Given the description of an element on the screen output the (x, y) to click on. 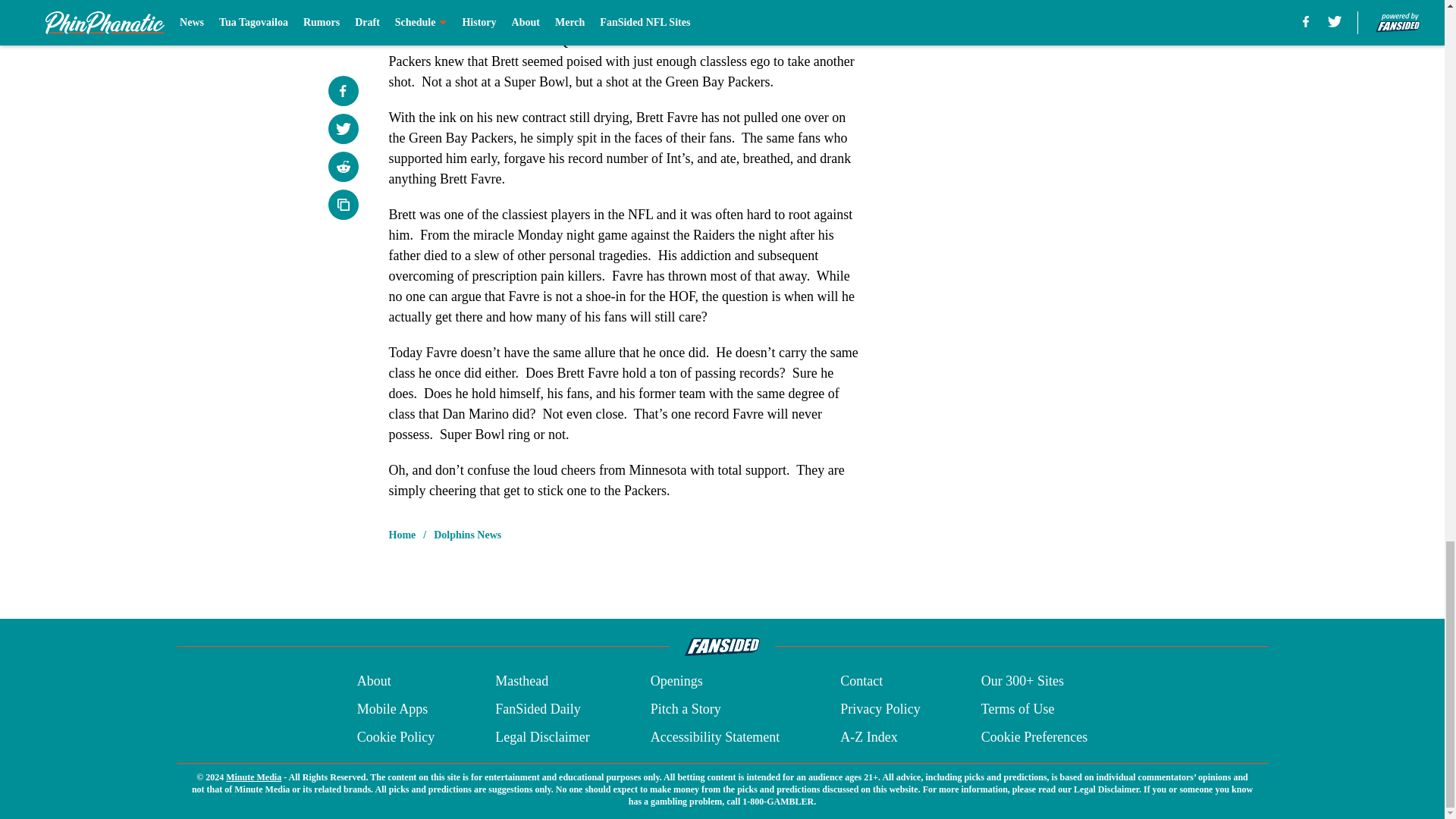
A-Z Index (868, 737)
Openings (676, 680)
Home (401, 534)
Dolphins News (466, 534)
FanSided Daily (537, 709)
Contact (861, 680)
Mobile Apps (392, 709)
Accessibility Statement (714, 737)
About (373, 680)
Masthead (521, 680)
Terms of Use (1017, 709)
Cookie Preferences (1034, 737)
Legal Disclaimer (542, 737)
Pitch a Story (685, 709)
Cookie Policy (395, 737)
